Given the description of an element on the screen output the (x, y) to click on. 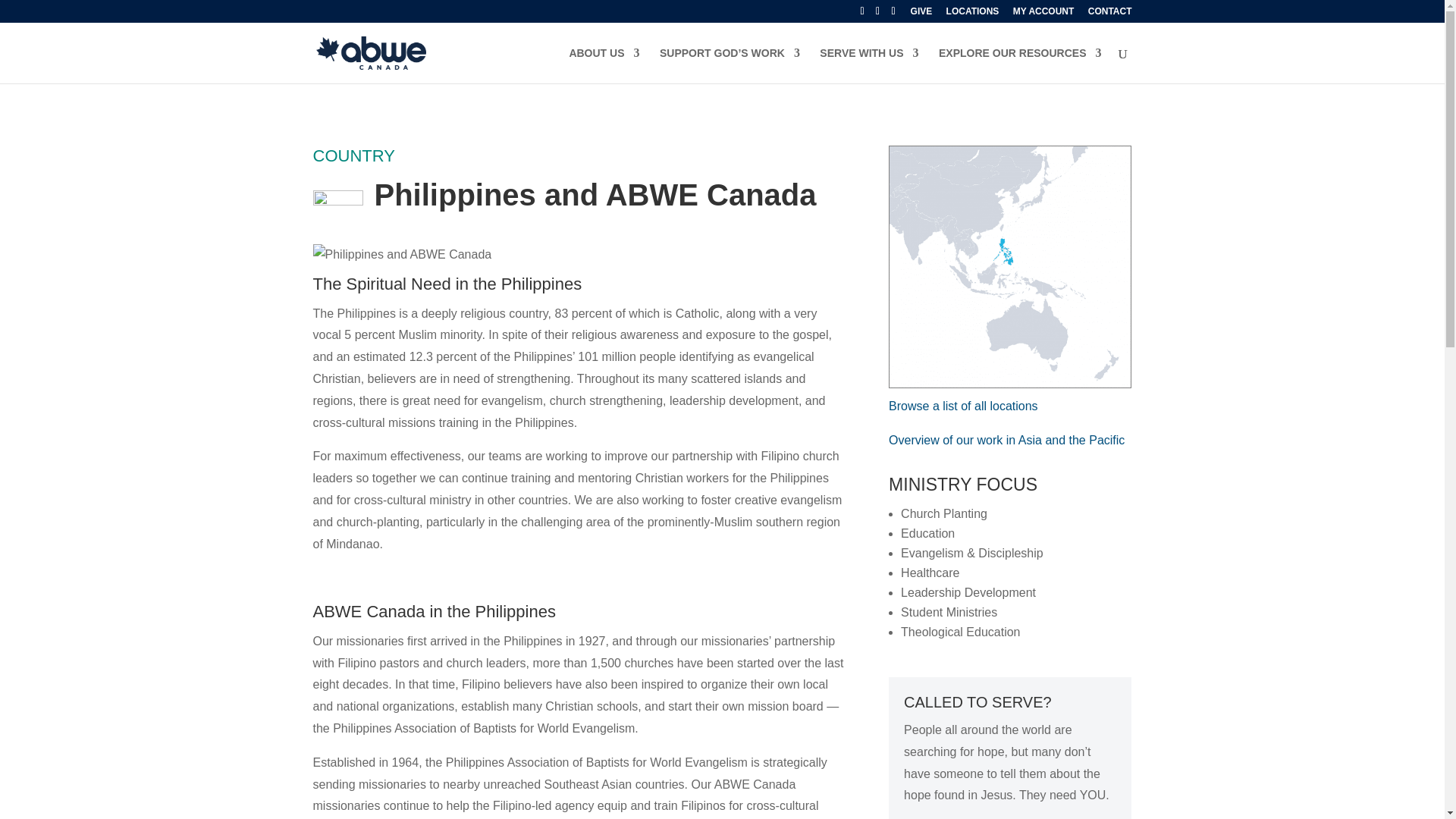
SERVE WITH US Element type: text (868, 65)
MY ACCOUNT Element type: text (1043, 14)
Overview of our work in Asia and the Pacific Element type: text (1006, 439)
CONTACT Element type: text (1110, 14)
LOCATIONS Element type: text (972, 14)
EXPLORE OUR RESOURCES Element type: text (1019, 65)
GIVE Element type: text (921, 14)
ABOUT US Element type: text (603, 65)
Browse a list of all locations Element type: text (963, 405)
